Given the description of an element on the screen output the (x, y) to click on. 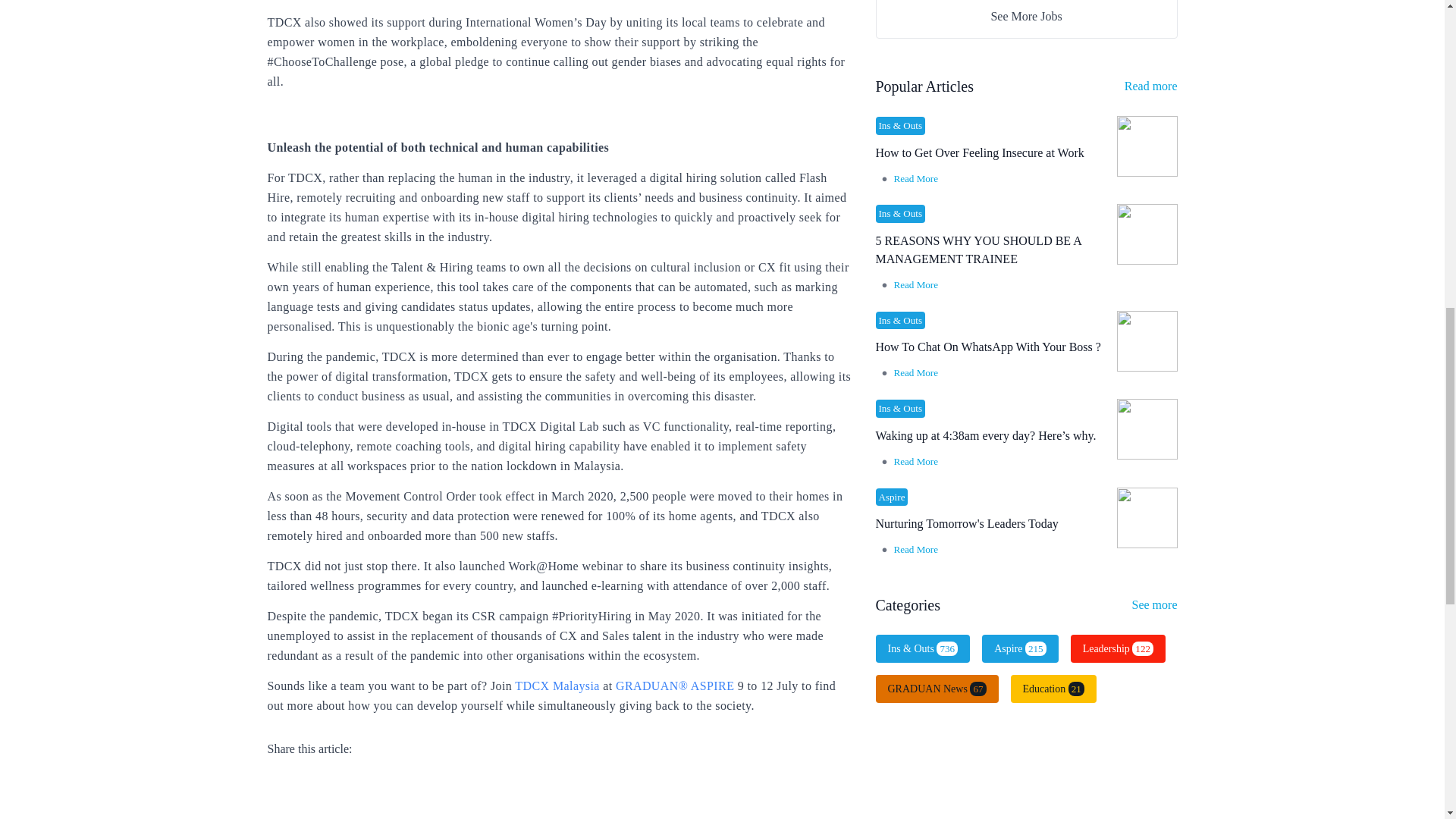
Read more (1150, 85)
See More Jobs (1026, 15)
See more (1154, 604)
TDCX Malaysia (556, 685)
GRADUAN News 67 (936, 688)
Aspire 215 (1019, 648)
Leadership 122 (1118, 648)
Education 21 (1053, 688)
See More Jobs (1026, 18)
Aspire (891, 497)
